Given the description of an element on the screen output the (x, y) to click on. 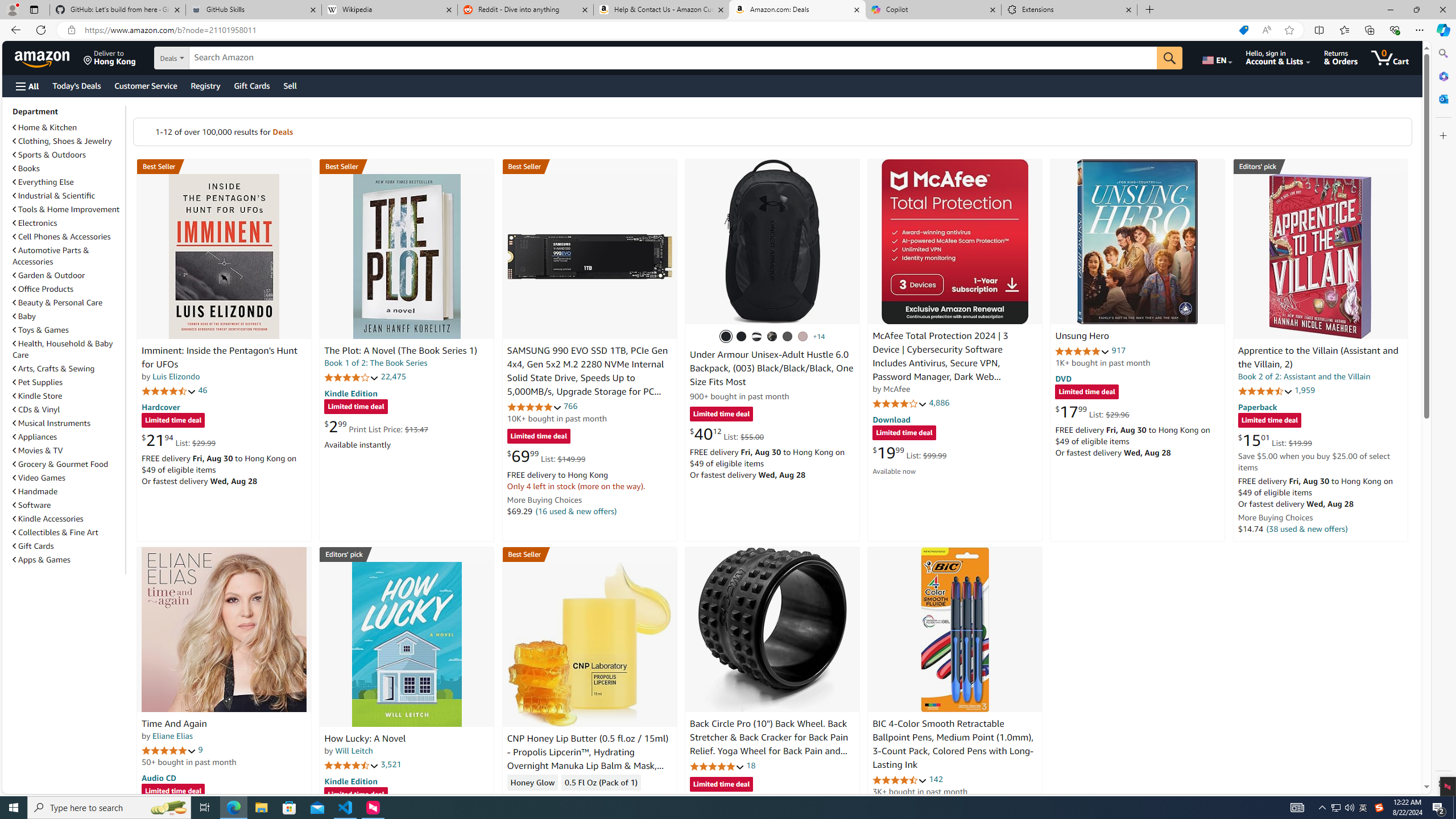
Returns & Orders (1340, 57)
Home & Kitchen (45, 127)
Collectibles & Fine Art (67, 532)
Electronics (67, 222)
Limited time deal (721, 784)
Grocery & Gourmet Food (67, 464)
Sports & Outdoors (67, 154)
Download (891, 419)
Software (67, 505)
Arts, Crafts & Sewing (67, 368)
